Given the description of an element on the screen output the (x, y) to click on. 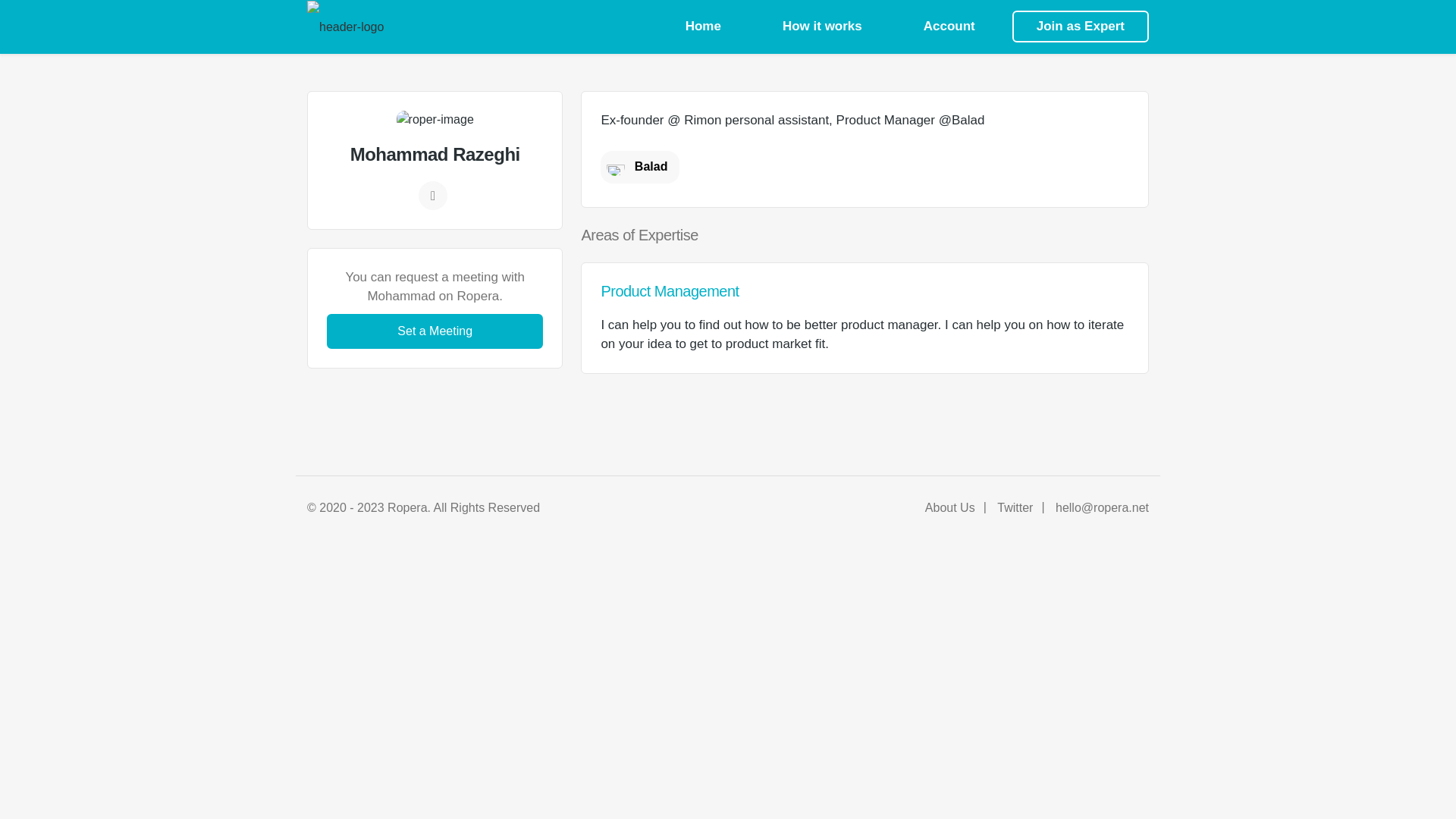
How it works (822, 26)
Set a Meeting (434, 330)
Balad (639, 165)
Twitter (1014, 506)
About Us (949, 506)
Home (703, 26)
Account (948, 26)
Join as Expert (1079, 26)
